Given the description of an element on the screen output the (x, y) to click on. 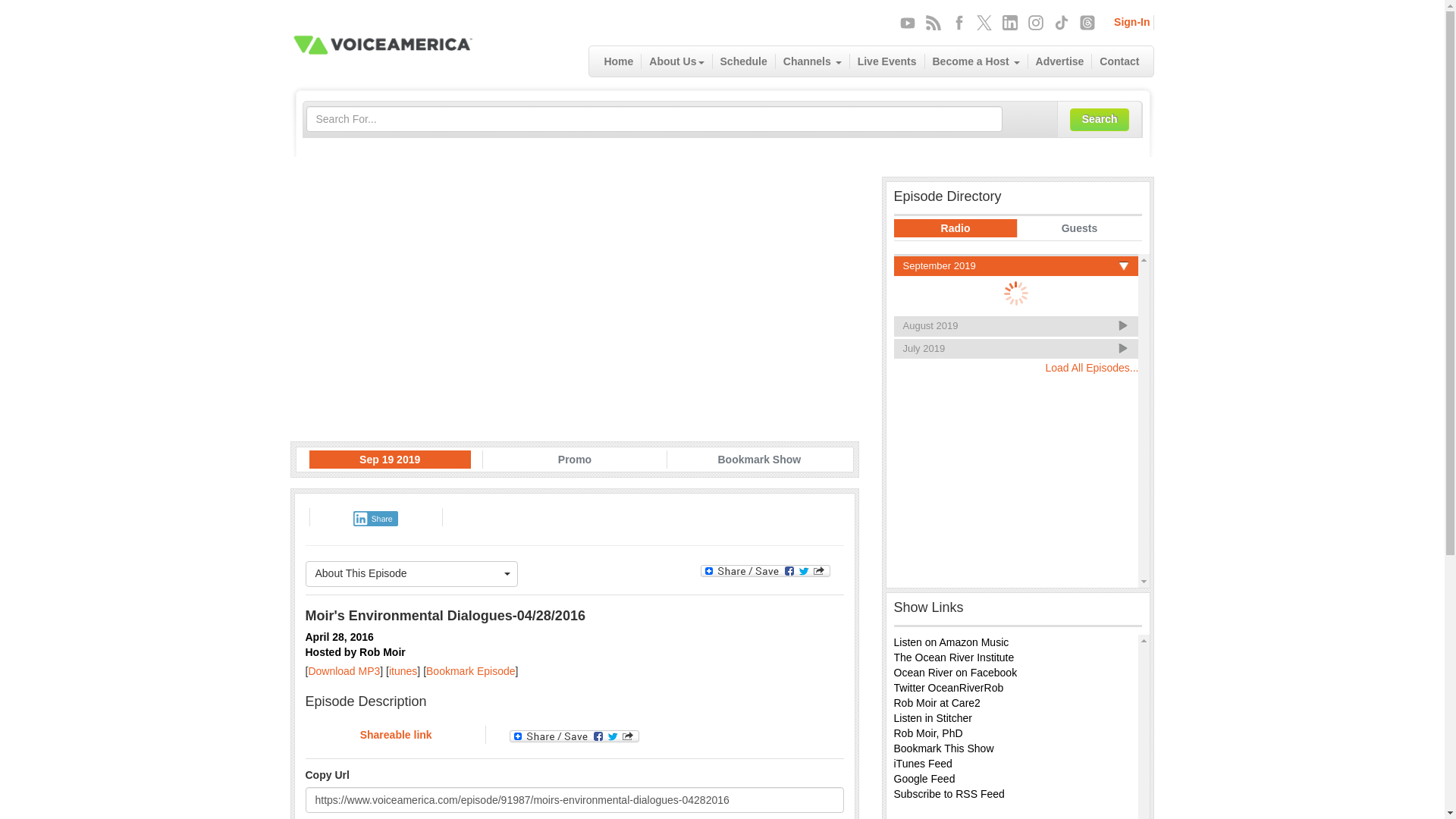
Search (1099, 119)
Contact (1119, 61)
About This Episode (411, 574)
Schedule (744, 61)
Promo (575, 459)
Sep 19 2019 (389, 459)
Sign-In (1131, 21)
Become a Host (975, 61)
Advertise (1060, 61)
Home (618, 61)
